Given the description of an element on the screen output the (x, y) to click on. 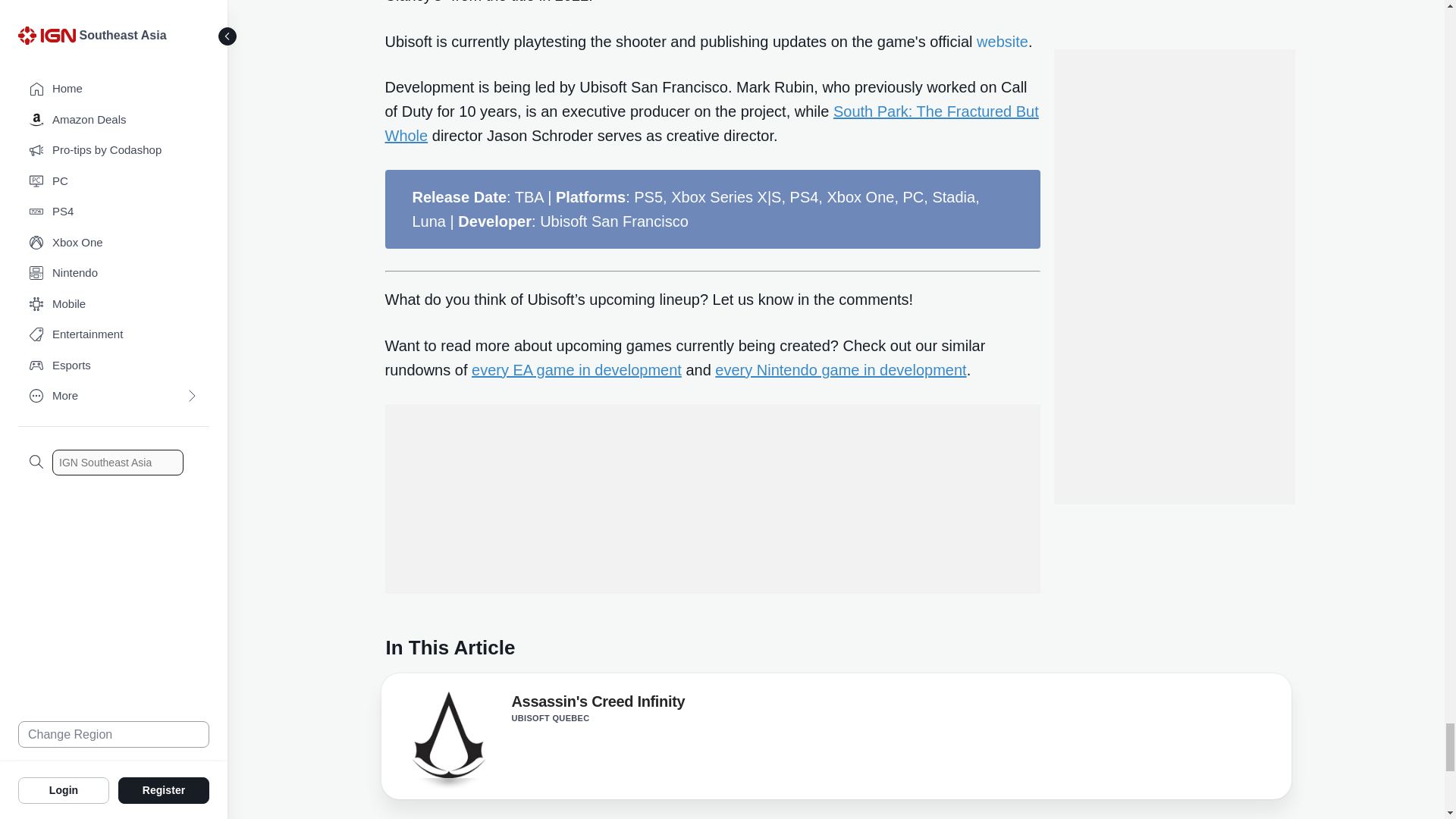
Assassin's Creed Infinity (448, 734)
Assassin's Creed Infinity (597, 703)
Assassin's Creed Infinity (448, 739)
